Given the description of an element on the screen output the (x, y) to click on. 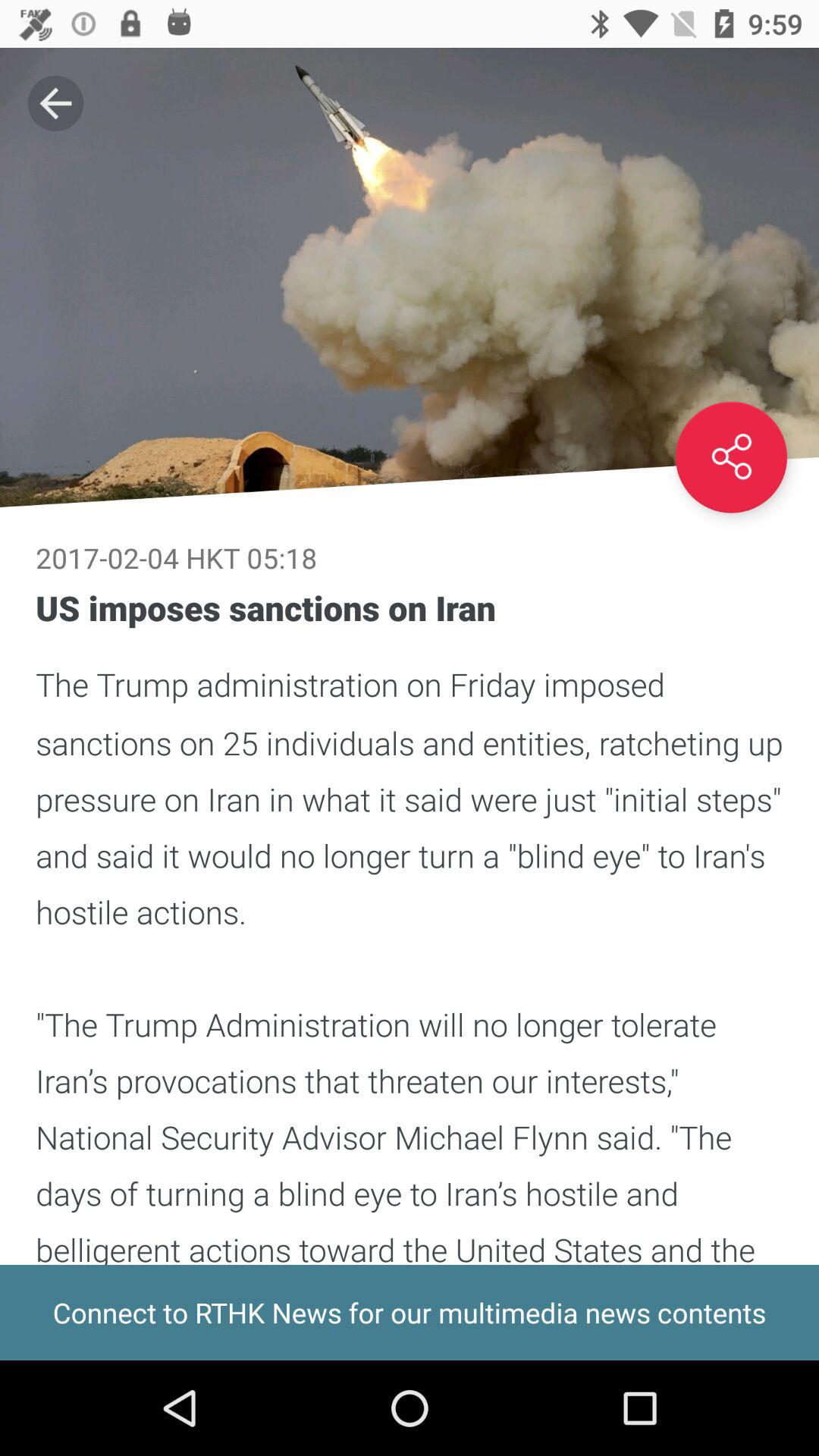
scroll to connect to rthk item (409, 1312)
